Given the description of an element on the screen output the (x, y) to click on. 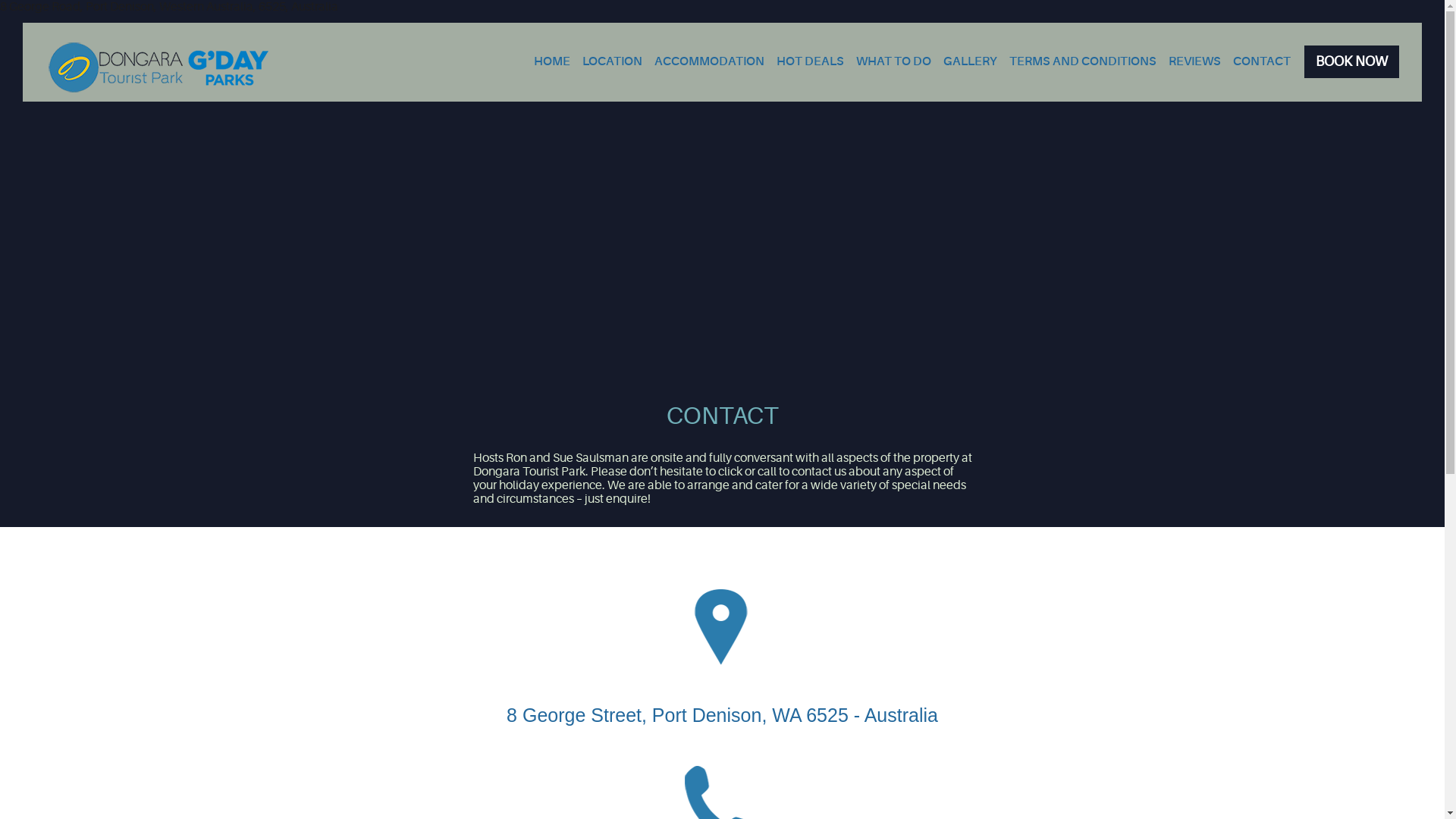
GALLERY Element type: text (970, 61)
HOT DEALS Element type: text (810, 61)
REVIEWS Element type: text (1194, 61)
WHAT TO DO Element type: text (893, 61)
HOME Element type: text (551, 61)
CONTACT Element type: text (1261, 61)
LOCATION Element type: text (612, 61)
8 George Street, Port Denison, WA 6525 - Australia Element type: text (722, 714)
BOOK NOW Element type: text (1351, 61)
ACCOMMODATION Element type: text (709, 61)
TERMS AND CONDITIONS Element type: text (1082, 61)
